Given the description of an element on the screen output the (x, y) to click on. 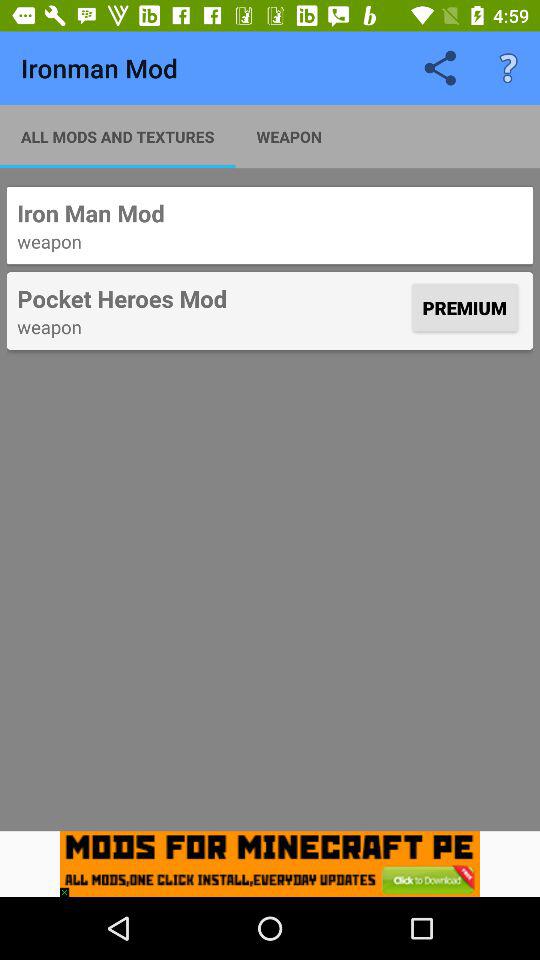
jump until premium (464, 307)
